Given the description of an element on the screen output the (x, y) to click on. 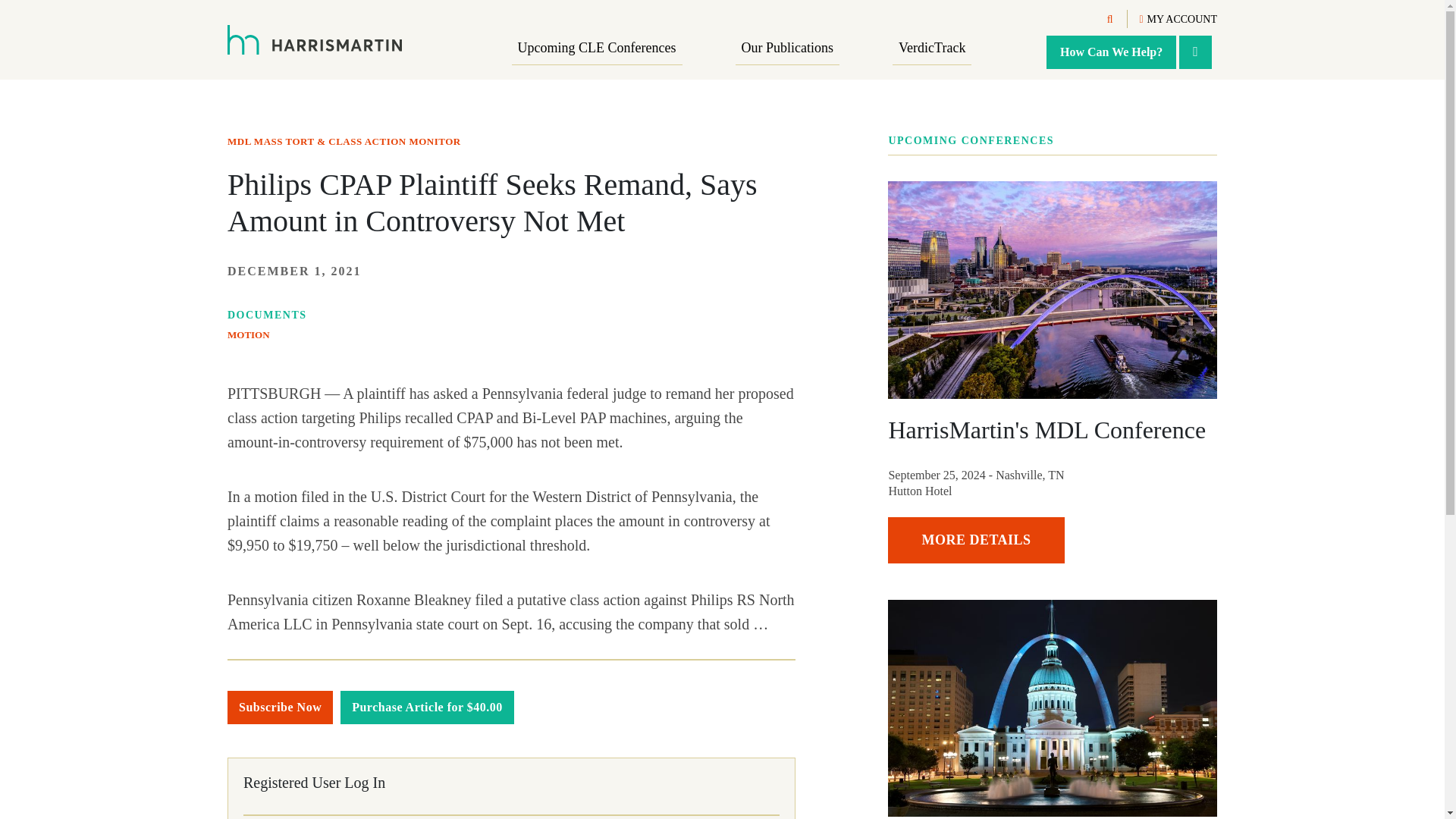
Upcoming CLE Conferences (597, 48)
MY ACCOUNT (1177, 19)
MORE DETAILS (976, 539)
VerdicTrack (931, 48)
How Can We Help? (1111, 52)
Subscribe Now (280, 707)
Our Publications (787, 48)
